Given the description of an element on the screen output the (x, y) to click on. 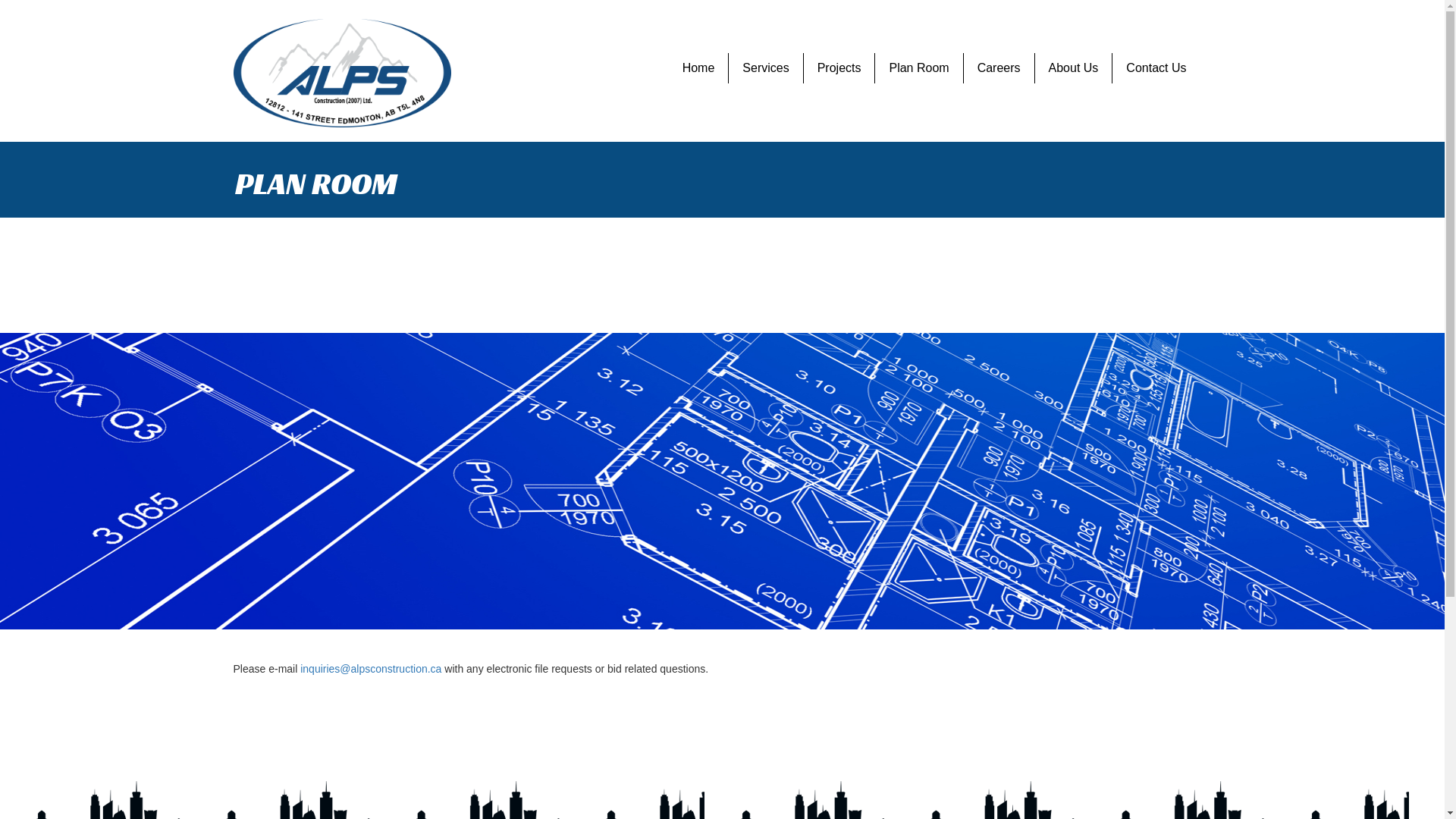
Careers Element type: text (998, 68)
Plan Room Element type: text (918, 68)
inquiries@alpsconstruction.ca Element type: text (370, 668)
Contact Us Element type: text (1155, 68)
alps-construction-logo Element type: hover (342, 72)
About Us Element type: text (1073, 68)
Services Element type: text (765, 68)
Projects Element type: text (839, 68)
Home Element type: text (698, 68)
